Given the description of an element on the screen output the (x, y) to click on. 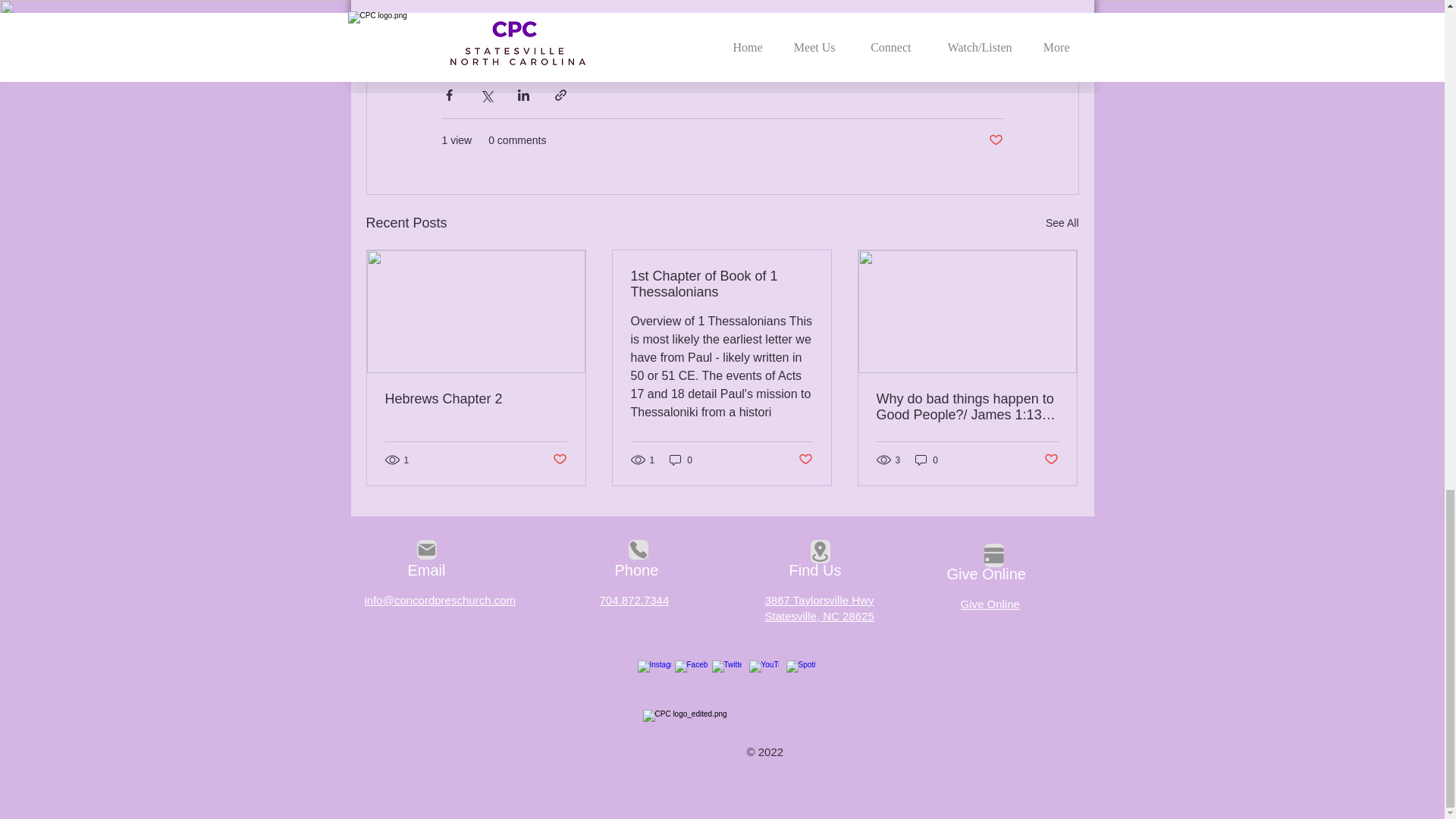
Post not marked as liked (558, 459)
See All (1061, 223)
1st Chapter of Book of 1 Thessalonians (721, 284)
Hebrews Chapter 2 (476, 399)
Post not marked as liked (995, 140)
